Given the description of an element on the screen output the (x, y) to click on. 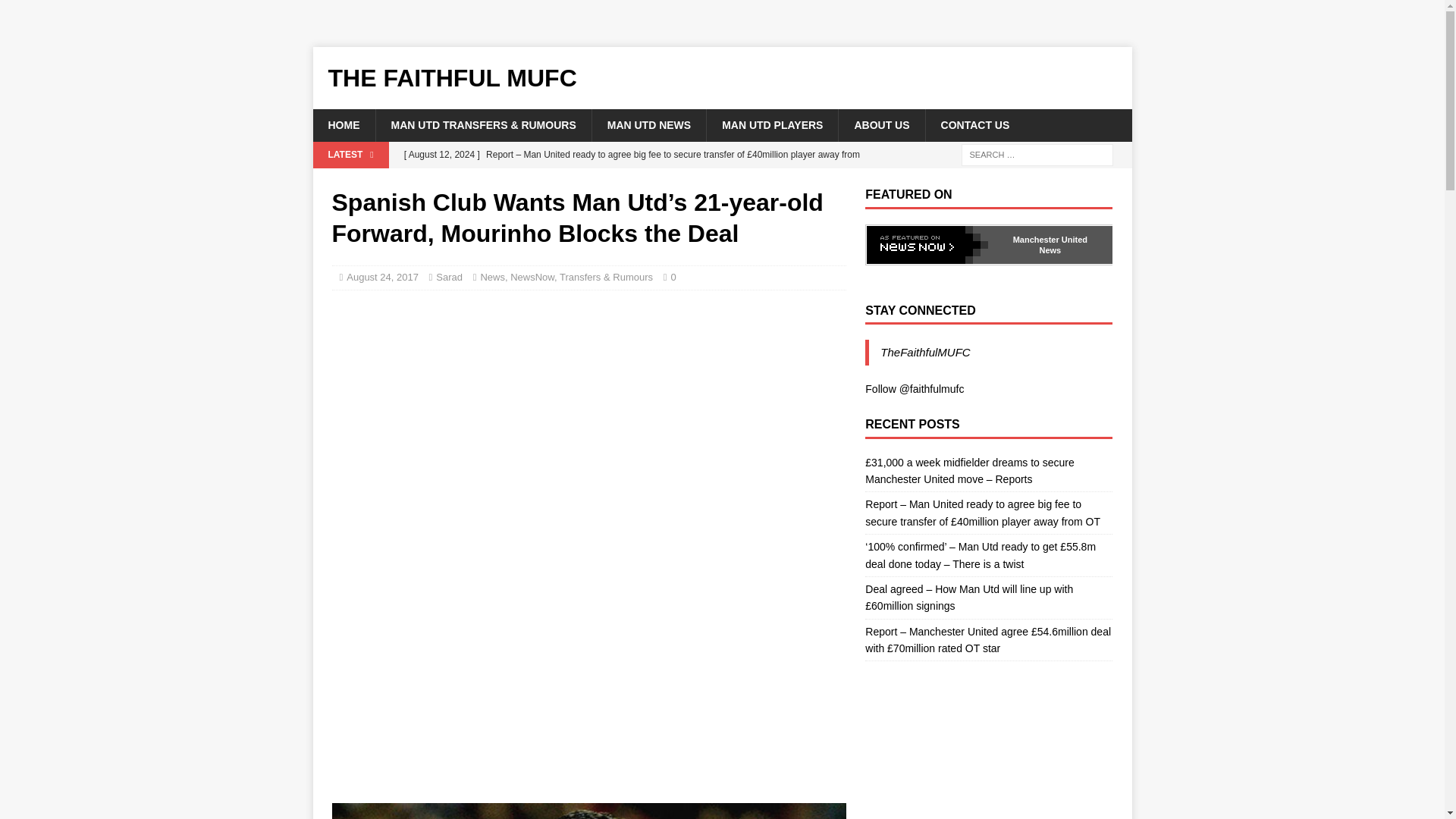
CONTACT US (974, 124)
Sarad (449, 276)
NewsNow (532, 276)
The Faithful MUFC (721, 78)
HOME (343, 124)
News (492, 276)
Pereira-Man-Utd-goal-607535 (588, 811)
ABOUT US (881, 124)
Search (56, 11)
THE FAITHFUL MUFC (721, 78)
